Given the description of an element on the screen output the (x, y) to click on. 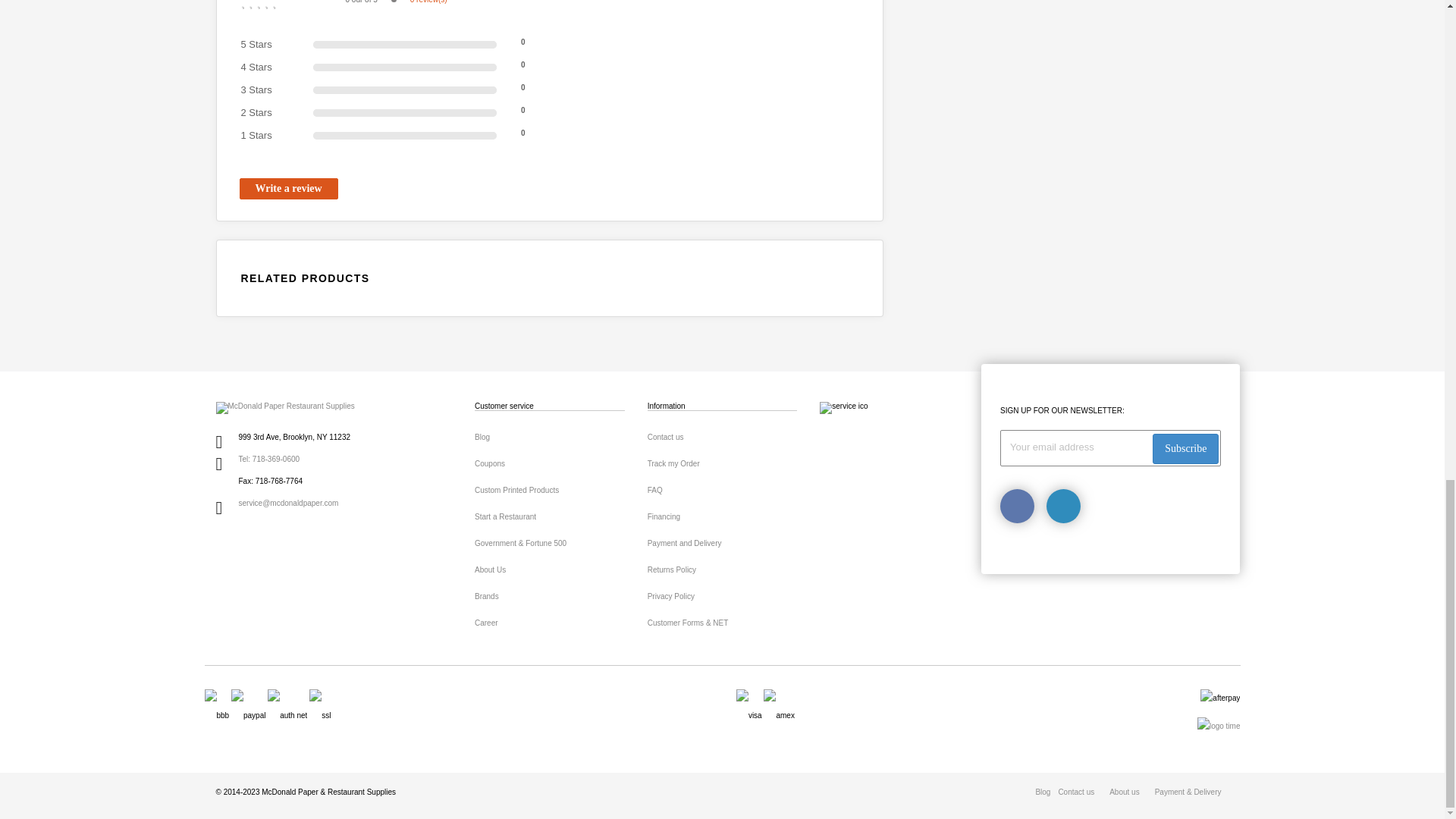
Write a review (288, 188)
